Given the description of an element on the screen output the (x, y) to click on. 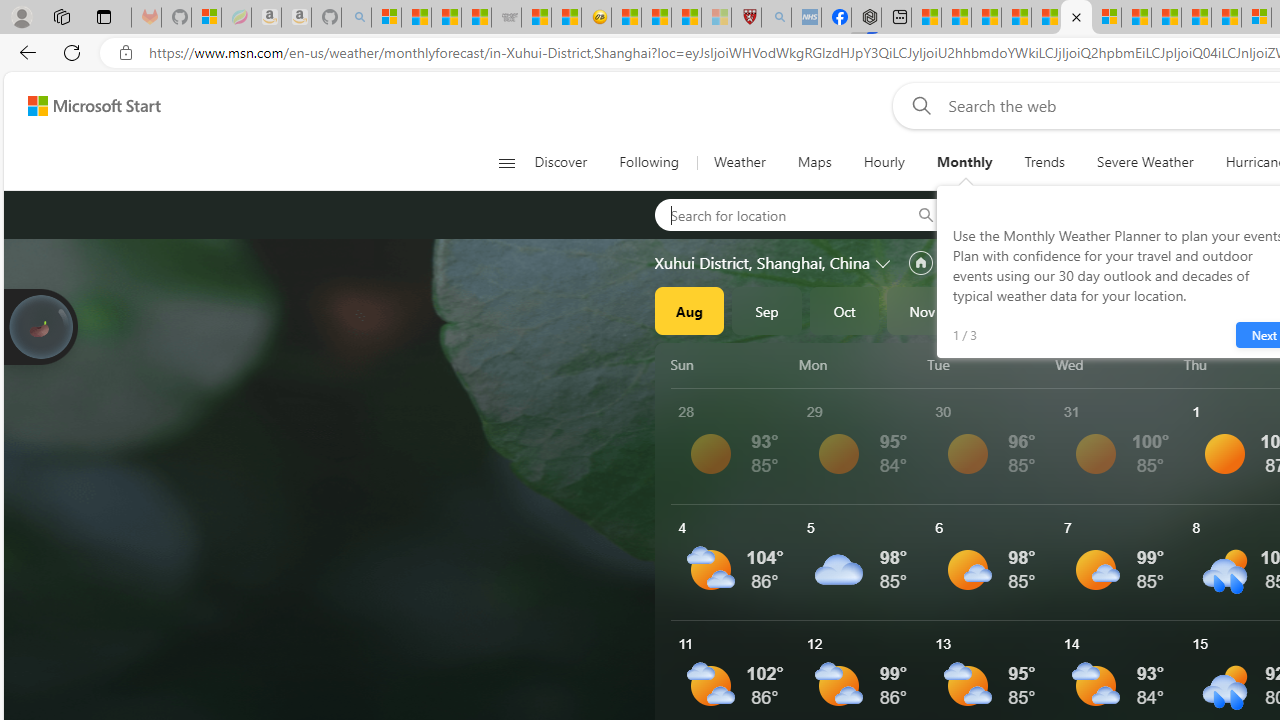
Science - MSN (686, 17)
Aberdeen (1022, 214)
Trends (1044, 162)
Mar (1233, 310)
Set as primary location (920, 263)
14 Common Myths Debunked By Scientific Facts (1195, 17)
Nov (922, 310)
Trends (1044, 162)
Mar (1233, 310)
